Given the description of an element on the screen output the (x, y) to click on. 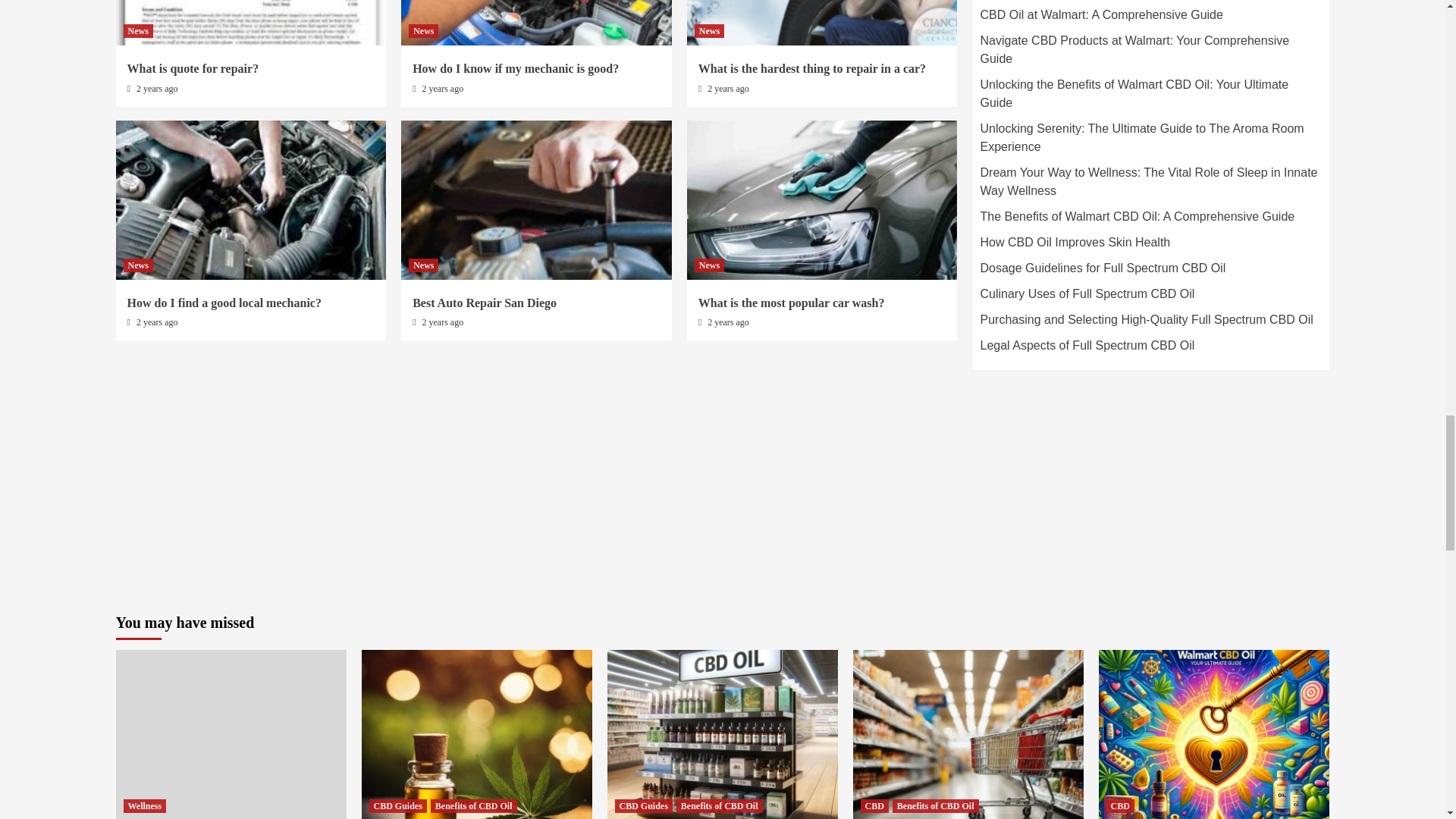
News (423, 30)
News (137, 30)
News (137, 264)
How do I know if my mechanic is good? (515, 68)
News (708, 30)
What is quote for repair? (193, 68)
How do I find a good local mechanic? (224, 302)
What is the hardest thing to repair in a car? (812, 68)
